Given the description of an element on the screen output the (x, y) to click on. 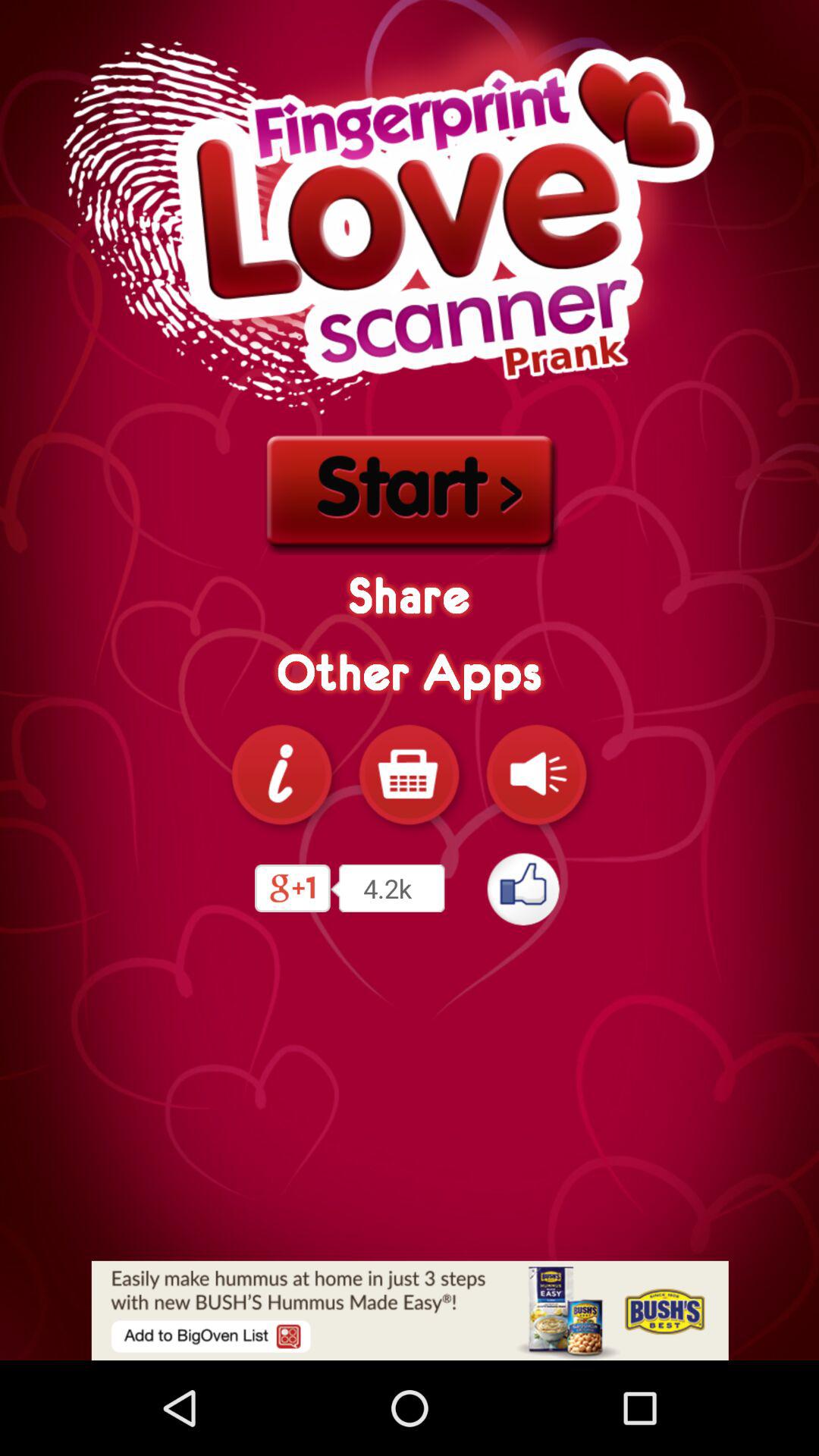
open store (409, 774)
